Given the description of an element on the screen output the (x, y) to click on. 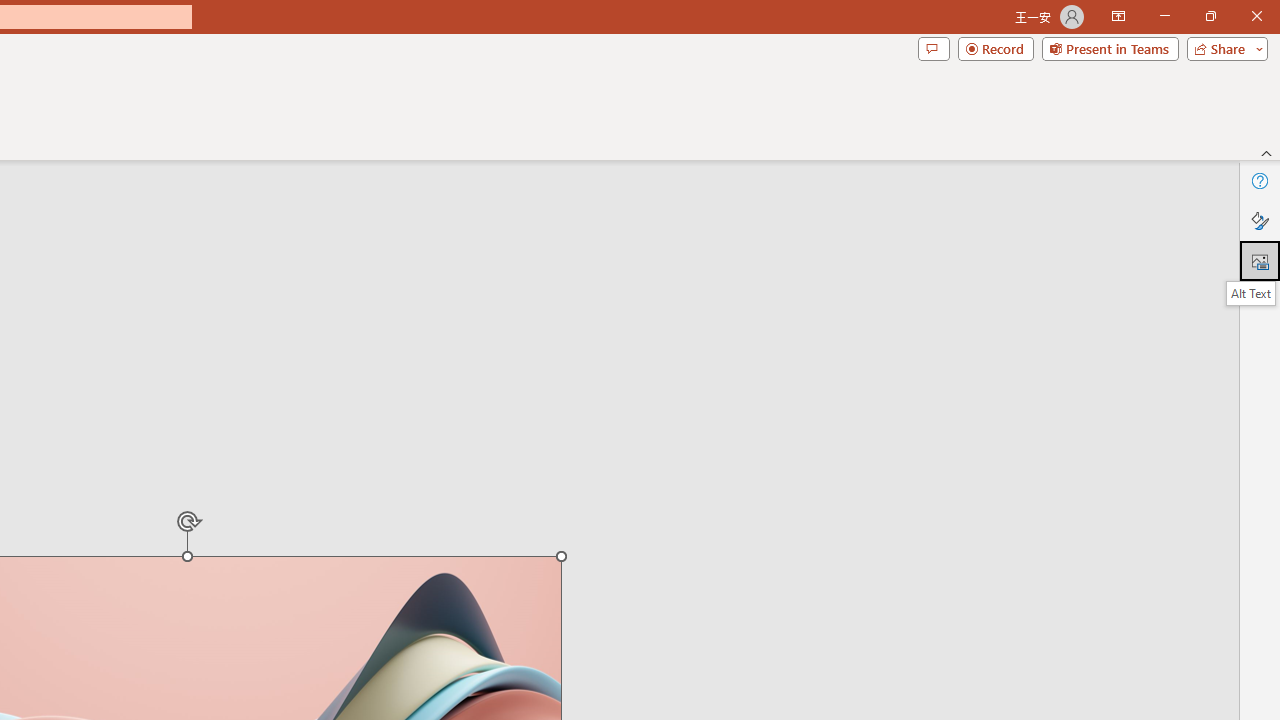
Format Picture (1260, 220)
